Given the description of an element on the screen output the (x, y) to click on. 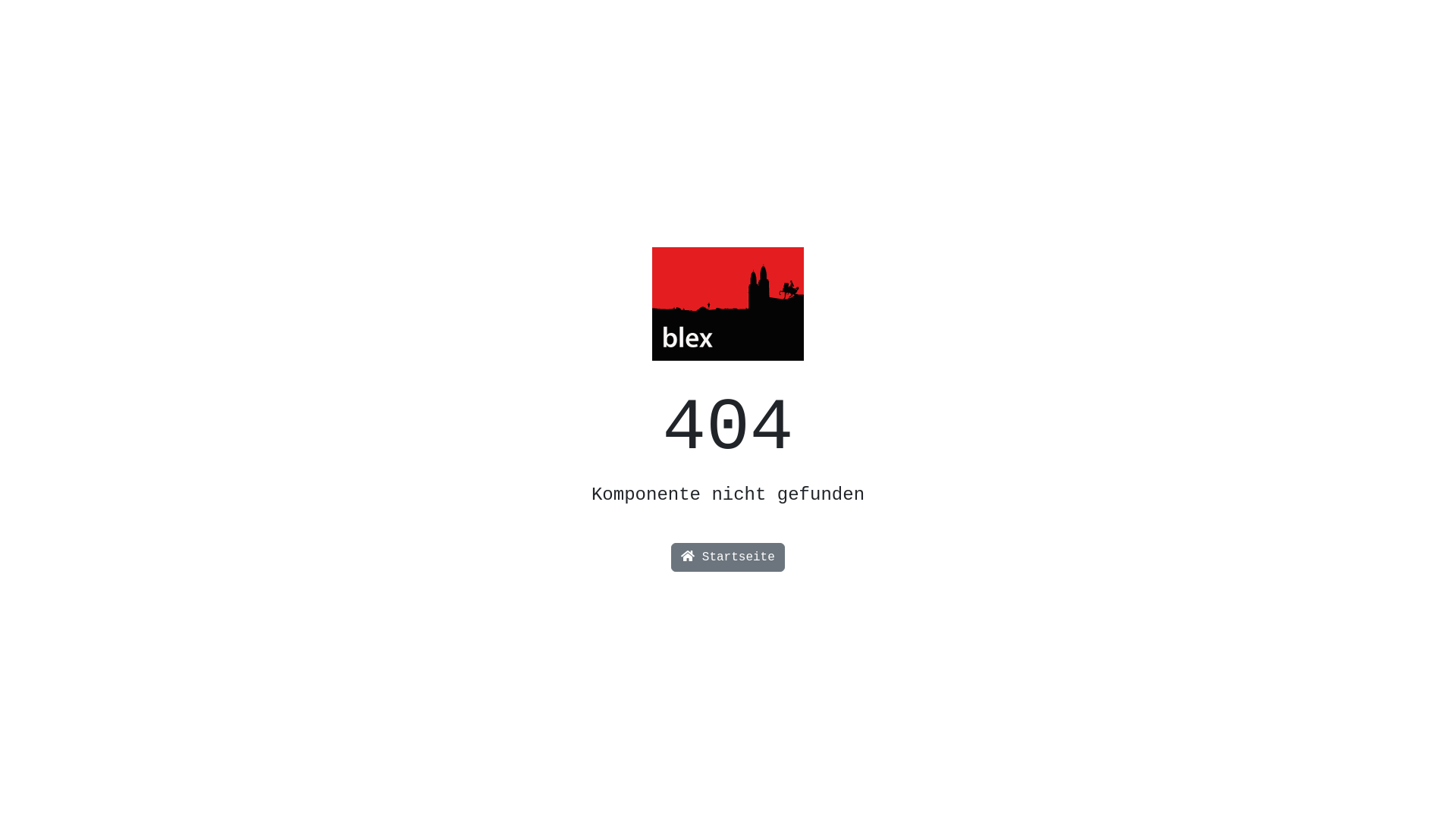
Startseite Element type: text (727, 556)
